Given the description of an element on the screen output the (x, y) to click on. 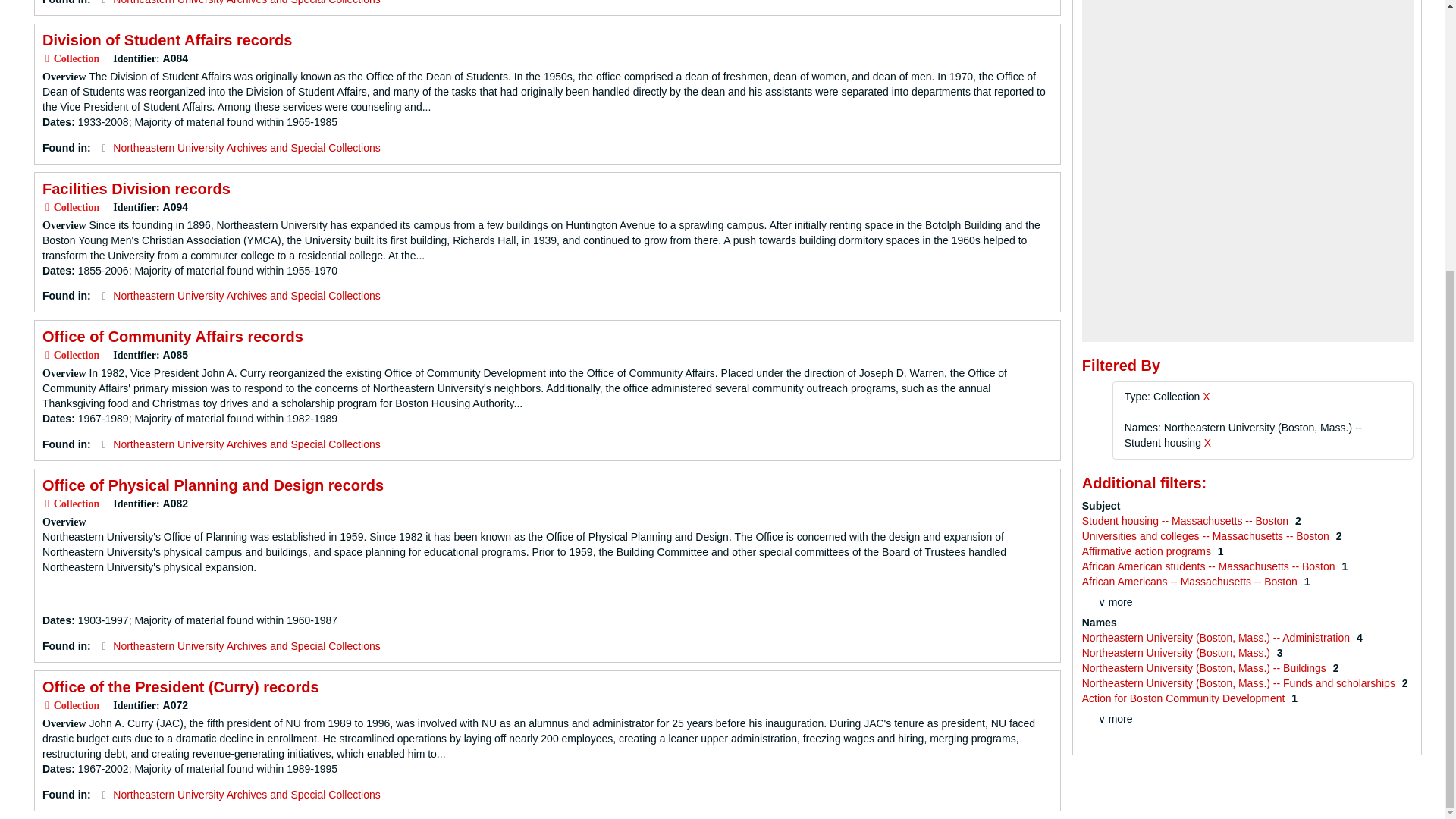
Affirmative action programs (1147, 551)
Division of Student Affairs records (167, 39)
Northeastern University Archives and Special Collections (246, 444)
Student housing -- Massachusetts -- Boston (1186, 521)
Office of Community Affairs records (172, 336)
Northeastern University Archives and Special Collections (246, 295)
African Americans -- Massachusetts -- Boston (1190, 581)
Northeastern University Archives and Special Collections (246, 2)
Filter By 'Affirmative action programs' (1147, 551)
Northeastern University Archives and Special Collections (246, 794)
Facilities Division records (136, 188)
Northeastern University Archives and Special Collections (246, 645)
Office of Physical Planning and Design records (213, 484)
